Given the description of an element on the screen output the (x, y) to click on. 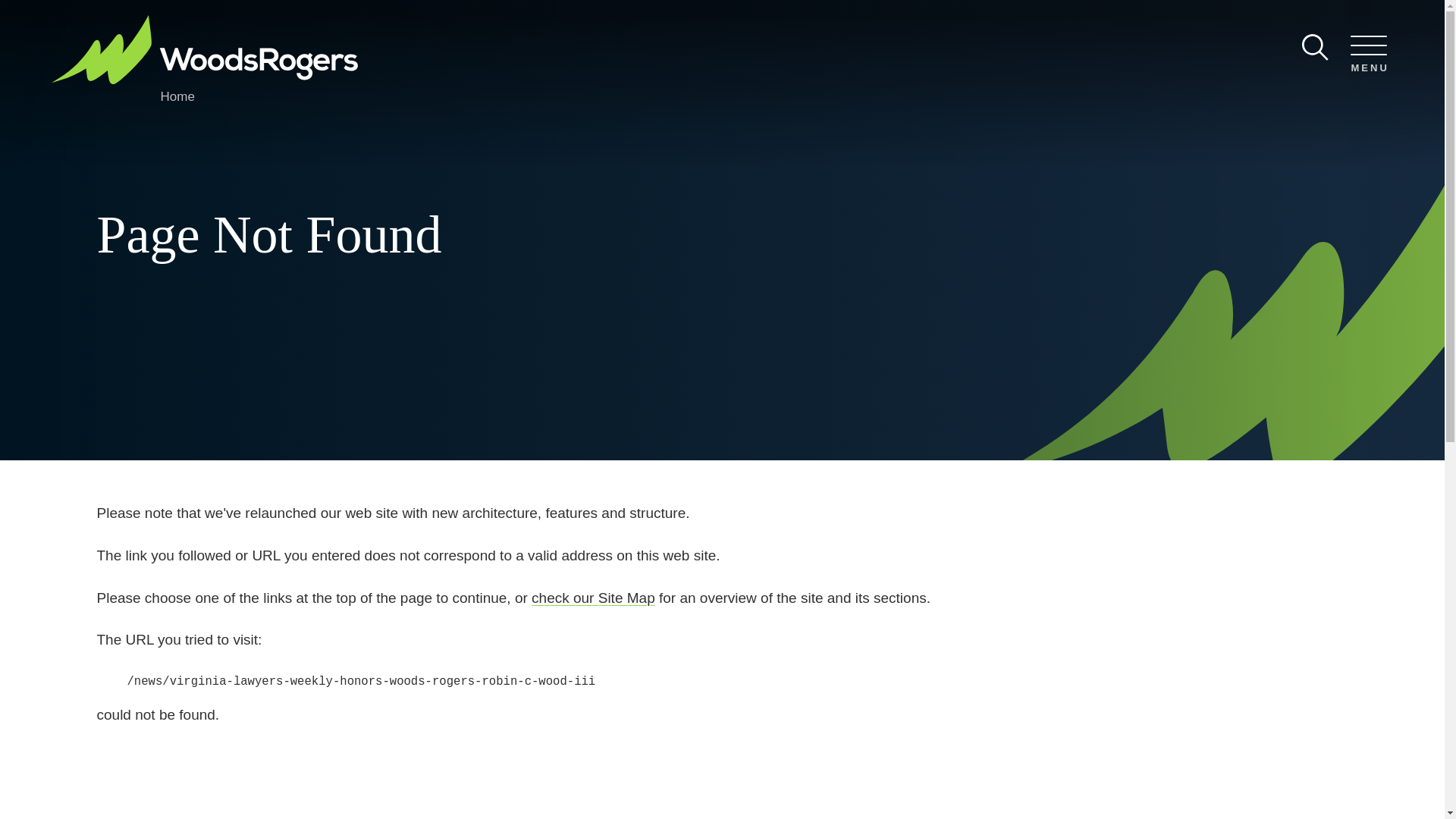
Main Content (674, 17)
check our Site Map (593, 597)
MENU (1367, 55)
Home (177, 96)
Menu (1367, 55)
Search (1314, 47)
Main Menu (680, 17)
Menu (680, 17)
